Given the description of an element on the screen output the (x, y) to click on. 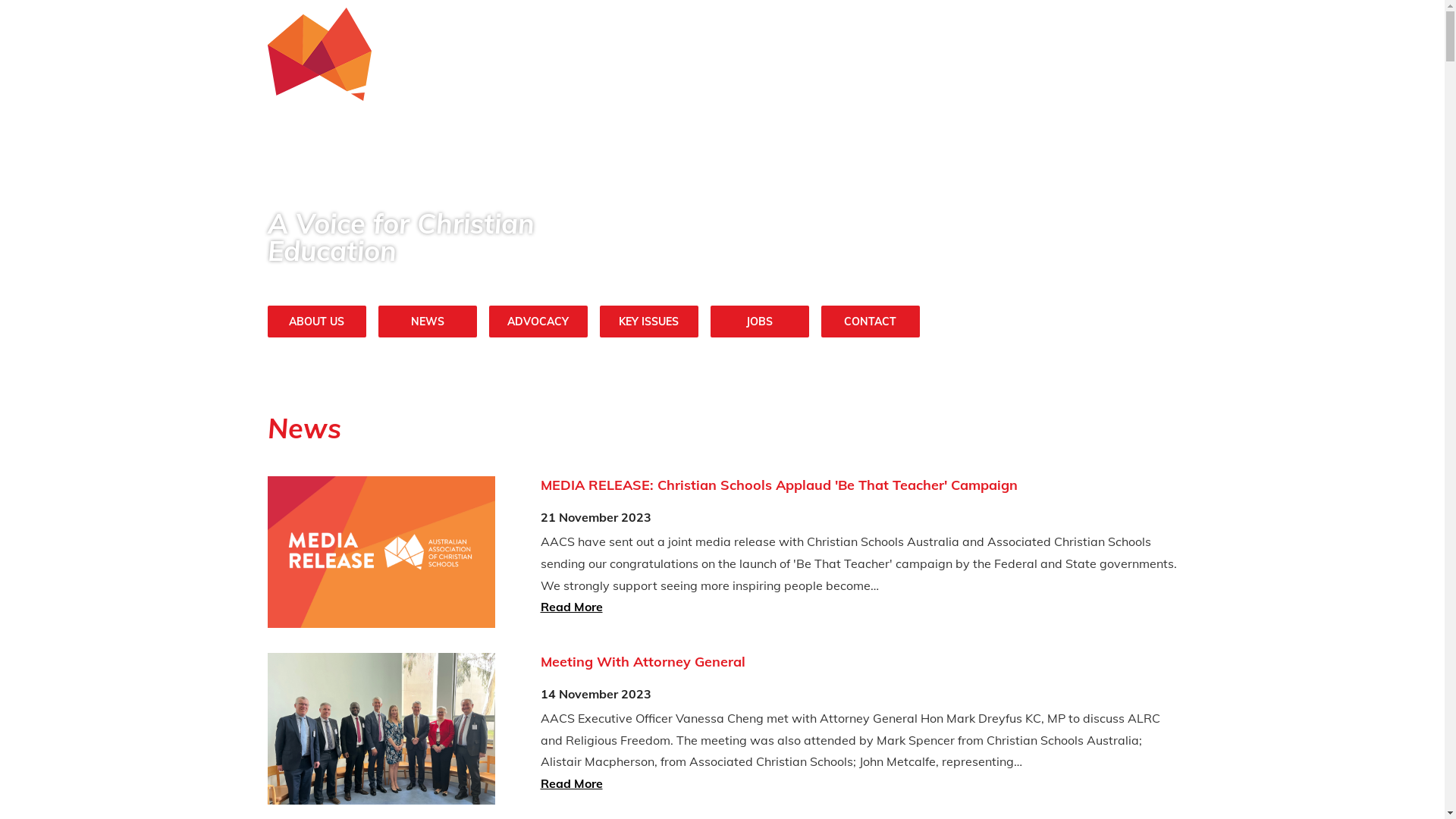
CONTACT Element type: text (869, 320)
Read More Element type: text (570, 782)
ADVOCACY Element type: text (537, 320)
ABOUT US Element type: text (315, 320)
JOBS Element type: text (758, 320)
Read More Element type: text (570, 606)
KEY ISSUES Element type: text (648, 320)
NEWS Element type: text (426, 320)
